Given the description of an element on the screen output the (x, y) to click on. 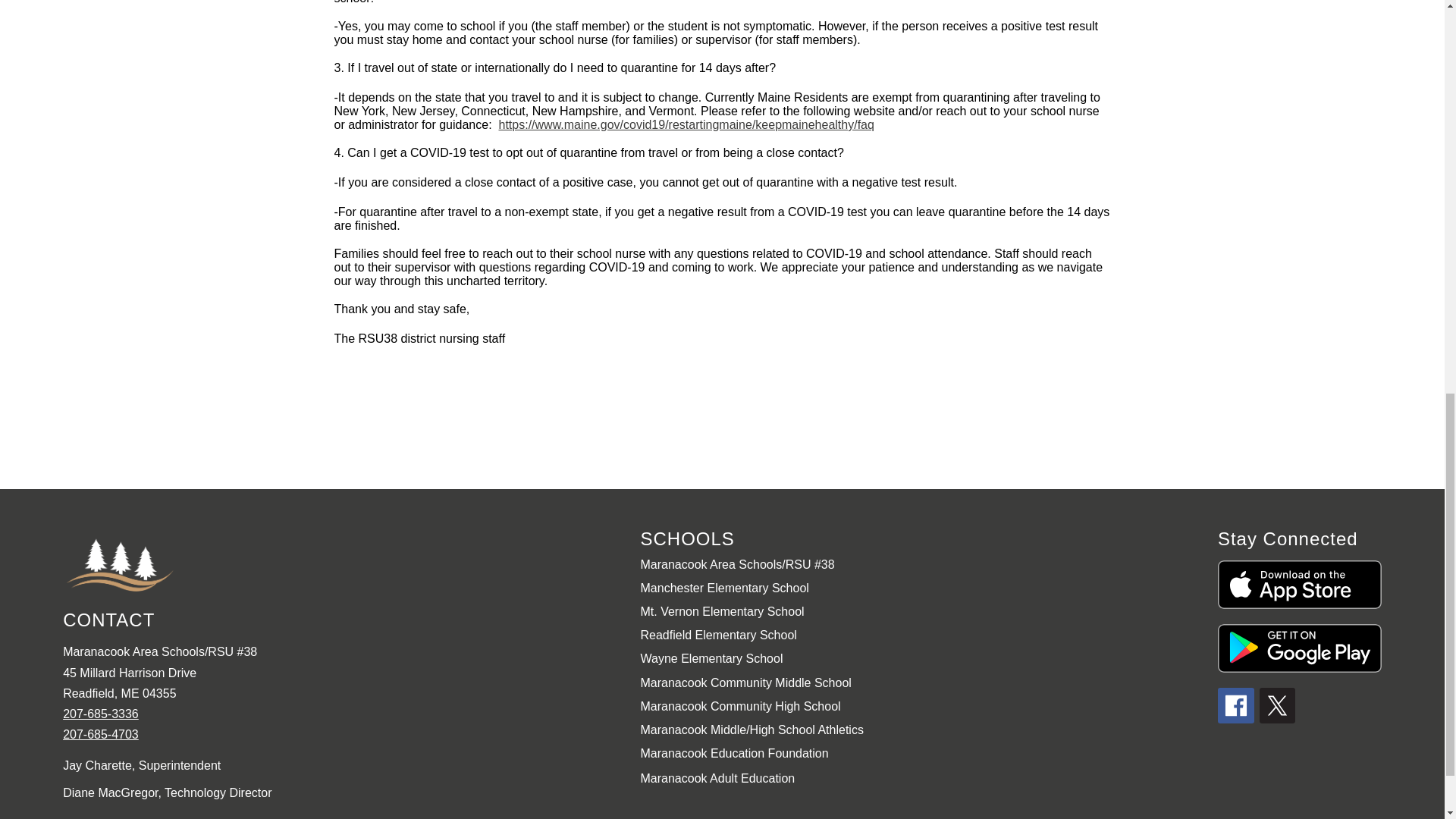
Maranacook Community Middle School (745, 682)
Readfield Elementary School (718, 634)
Mt. Vernon Elementary School (721, 611)
Maranacook Adult Education (717, 778)
207-685-3336 (100, 713)
Maranacook Community High School (740, 705)
Maranacook Education Foundation (734, 753)
Manchester Elementary School (724, 587)
Jay Charette, Superintendent (343, 766)
Wayne Elementary School (711, 658)
